Given the description of an element on the screen output the (x, y) to click on. 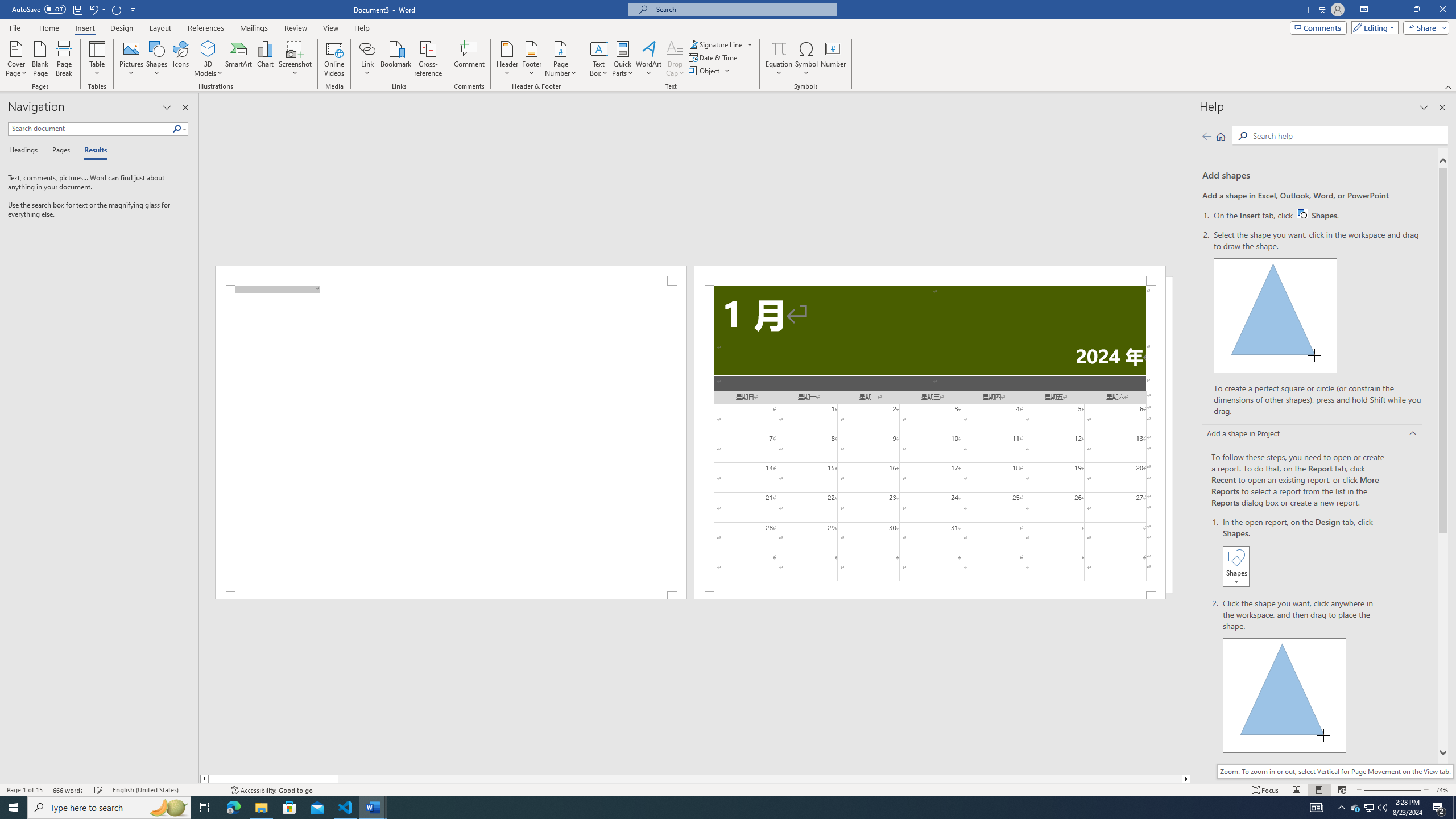
Previous page (1206, 136)
Accessibility Checker Accessibility: Good to go (271, 790)
Bookmark... (396, 58)
Icons (180, 58)
SmartArt... (238, 58)
Equation (778, 48)
Repeat Doc Close (117, 9)
Add a shape in Project (1312, 434)
Word W32 Shapes button icon (1302, 213)
